Given the description of an element on the screen output the (x, y) to click on. 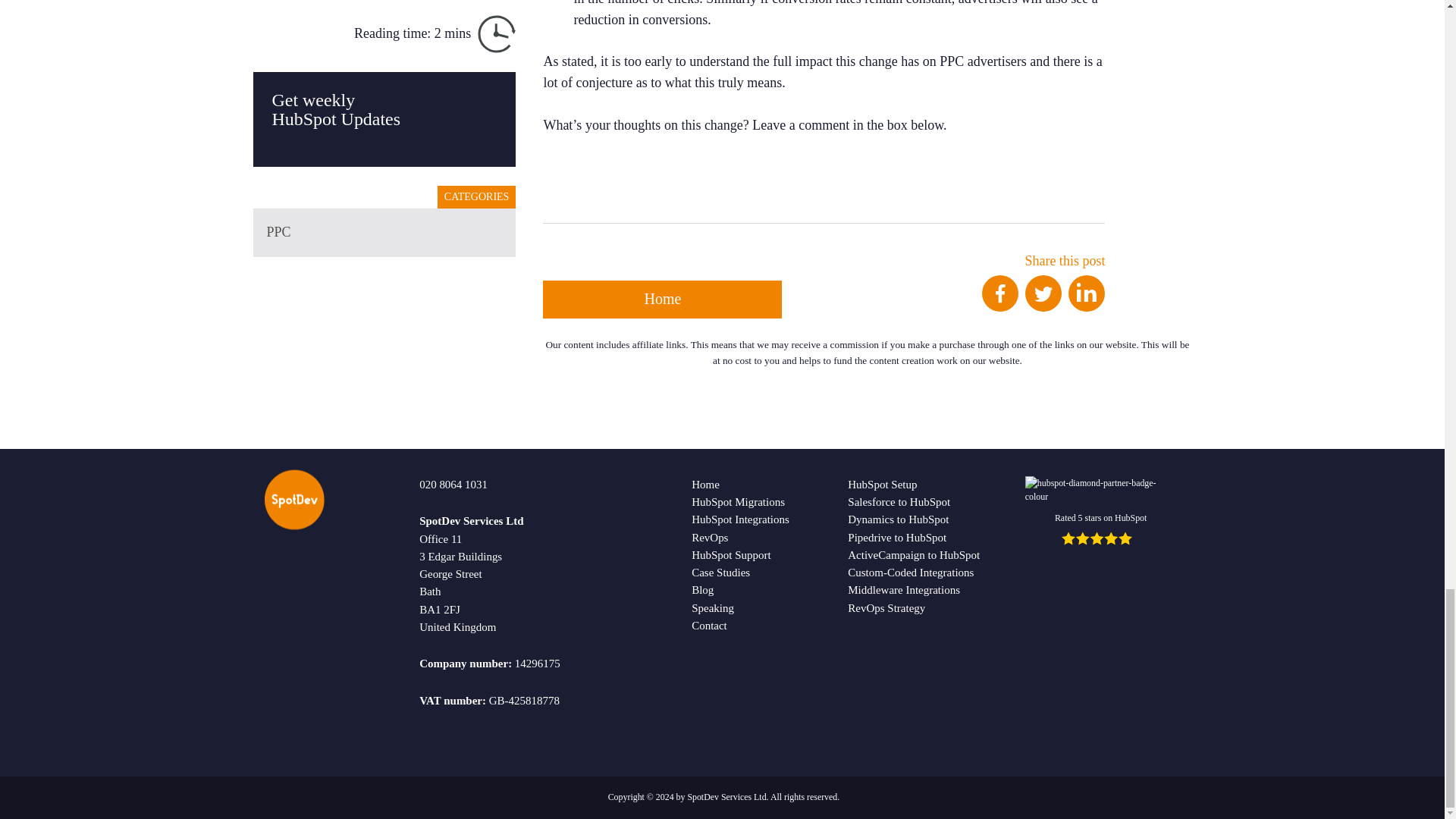
hubspot-diamond-partner-badge-colour (1100, 489)
ActiveCampaign to HubSpot (913, 554)
LinkedIn (1086, 293)
Middleware Integrations (903, 589)
RevOps (709, 537)
Twitter (1043, 306)
Pipedrive to HubSpot (896, 537)
Twitter (1043, 293)
Share on Twitter (1043, 306)
Contact (708, 625)
